Given the description of an element on the screen output the (x, y) to click on. 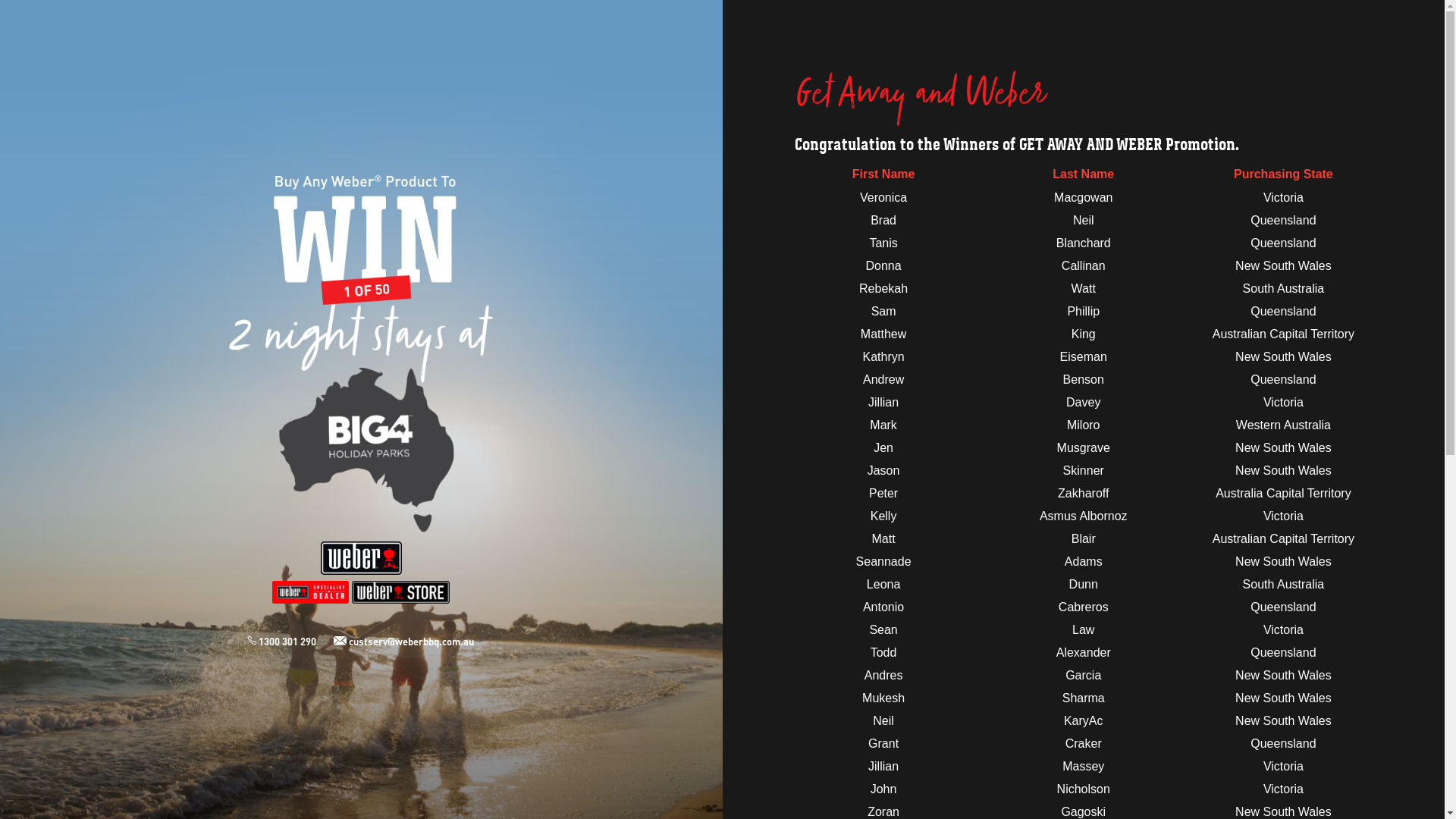
1300 301 290 Element type: text (290, 640)
custserv@weberbbq.com.au Element type: text (403, 640)
